Given the description of an element on the screen output the (x, y) to click on. 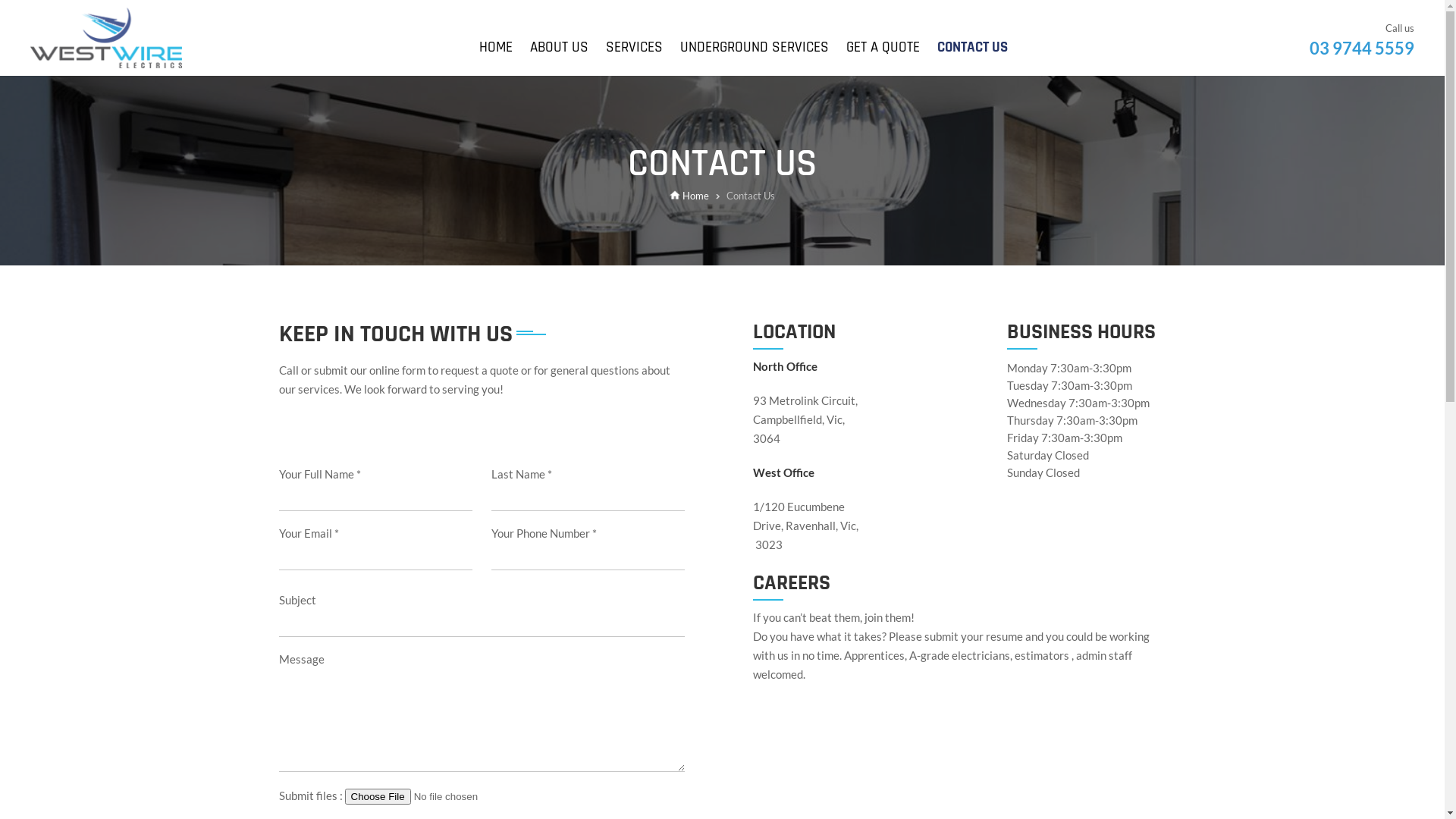
03 9744 5559 Element type: text (1361, 47)
CONTACT US Element type: text (972, 46)
HOME Element type: text (495, 46)
GET A QUOTE Element type: text (882, 46)
SERVICES Element type: text (633, 46)
UNDERGROUND SERVICES Element type: text (753, 46)
ABOUT US Element type: text (558, 46)
Home Element type: text (689, 195)
Westwire Electrics Element type: hover (106, 37)
